Given the description of an element on the screen output the (x, y) to click on. 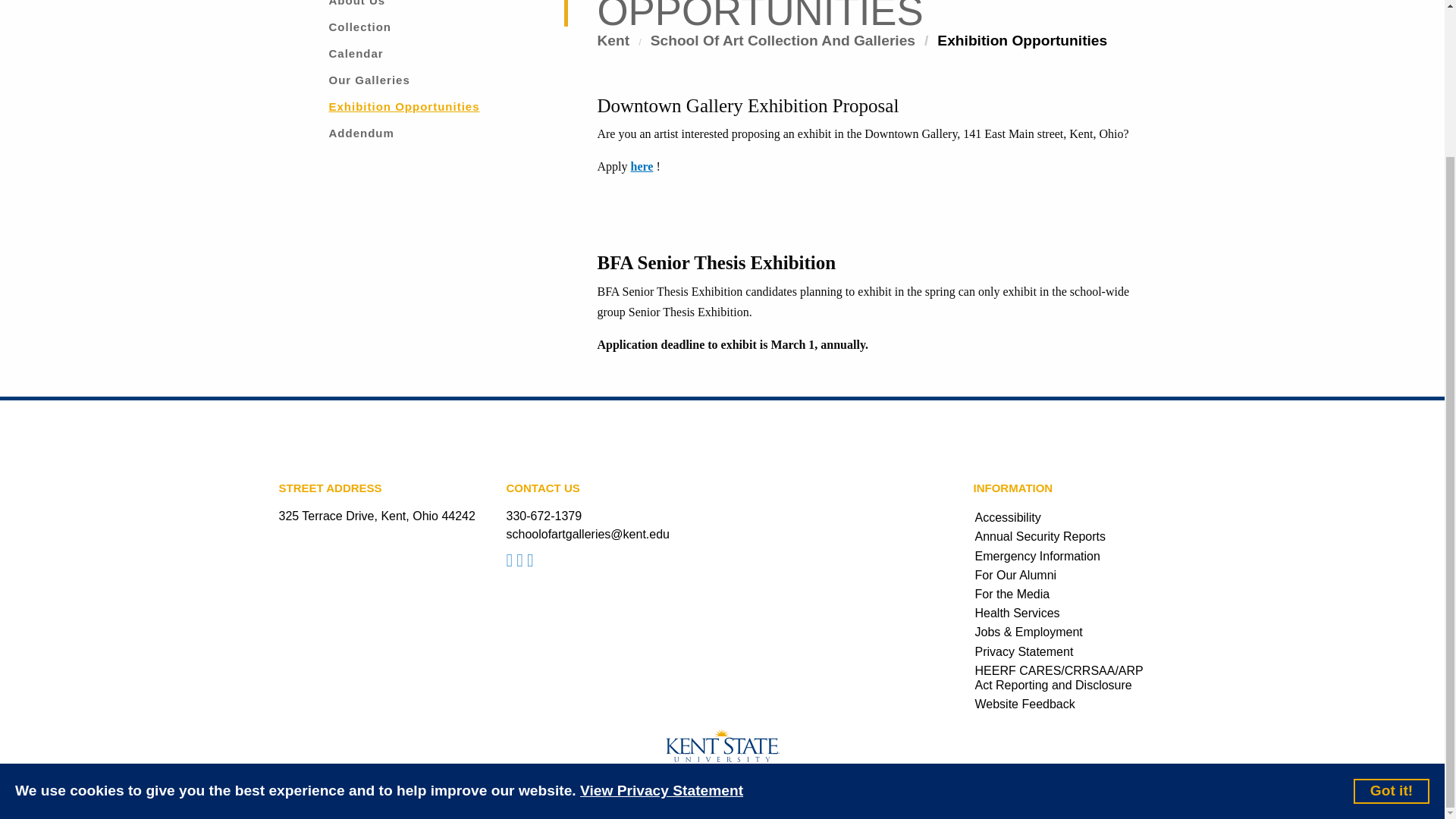
Got it! (1391, 606)
View Privacy Statement (660, 608)
